Given the description of an element on the screen output the (x, y) to click on. 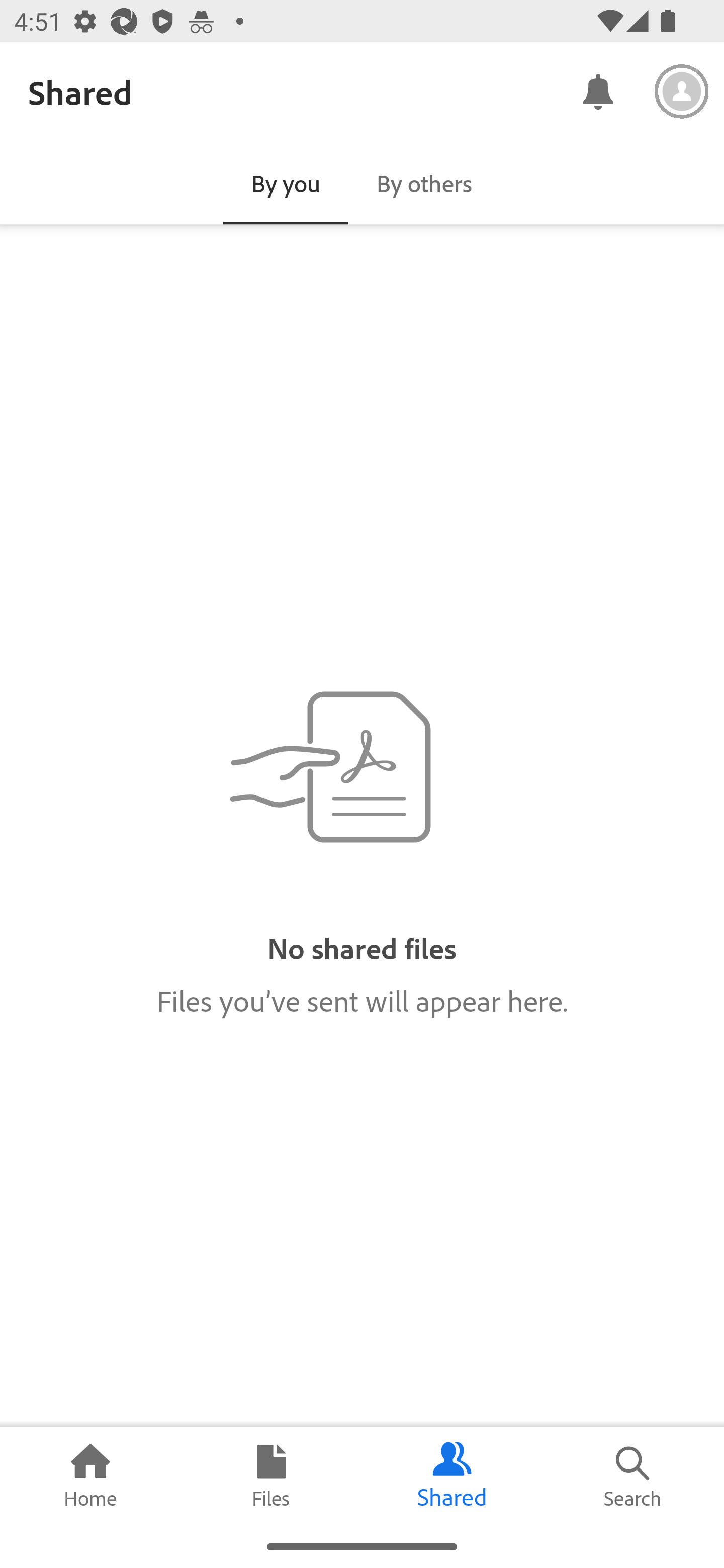
Notifications (597, 90)
Settings (681, 91)
By you (285, 183)
By others (424, 183)
Home (90, 1475)
Files (271, 1475)
Shared (452, 1475)
Search (633, 1475)
